Given the description of an element on the screen output the (x, y) to click on. 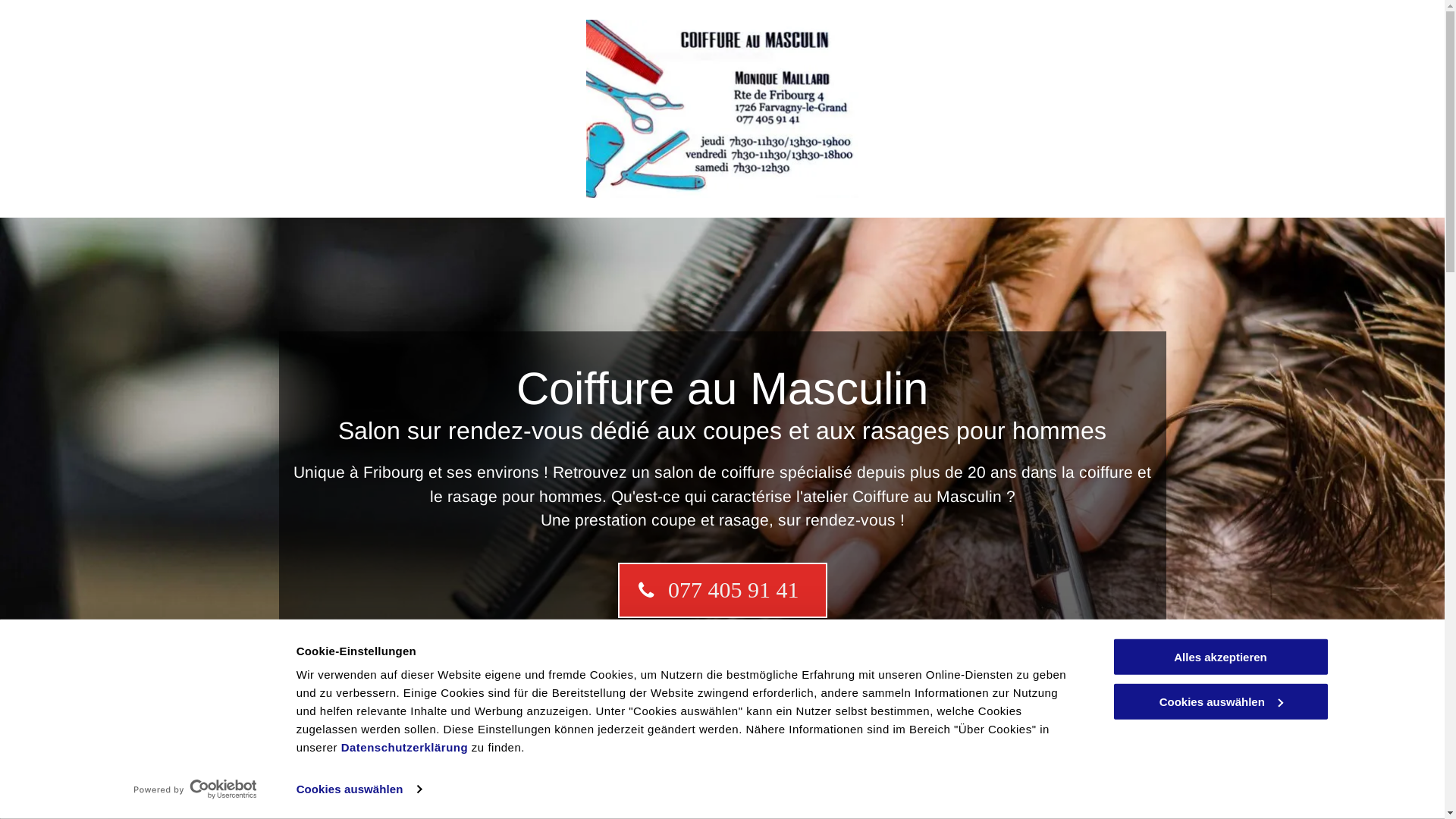
Alles akzeptieren Element type: text (1219, 656)
077 405 91 41 Element type: text (721, 590)
